Given the description of an element on the screen output the (x, y) to click on. 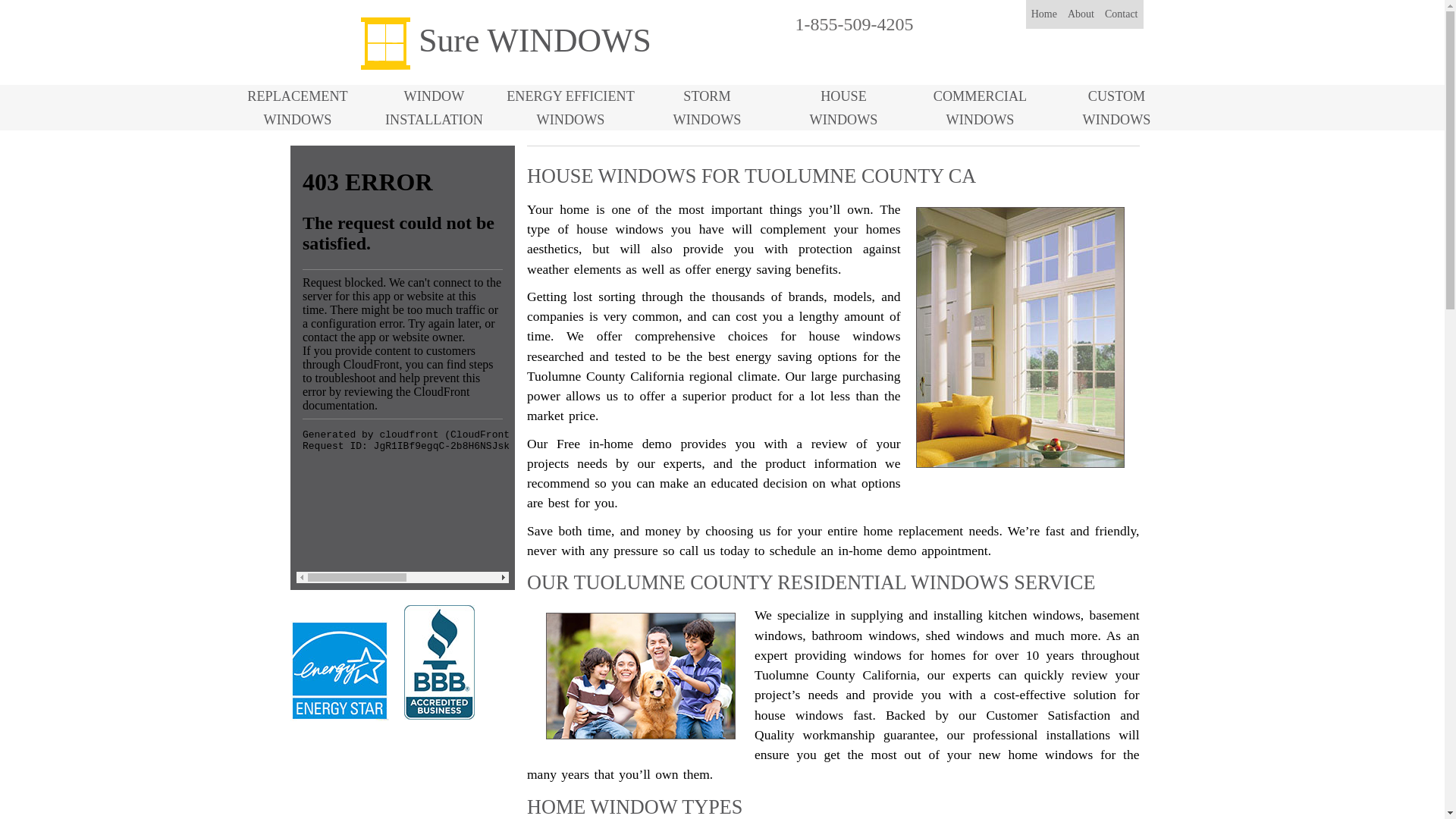
About us (1080, 13)
Storm Windows (706, 107)
Commercial Windows (706, 107)
WINDOW INSTALLATION (979, 107)
Energy Efficient Windows (434, 107)
Replacement Windows (570, 107)
ENERGY EFFICIENT WINDOWS (297, 107)
About (570, 107)
House Windows (1080, 13)
